Given the description of an element on the screen output the (x, y) to click on. 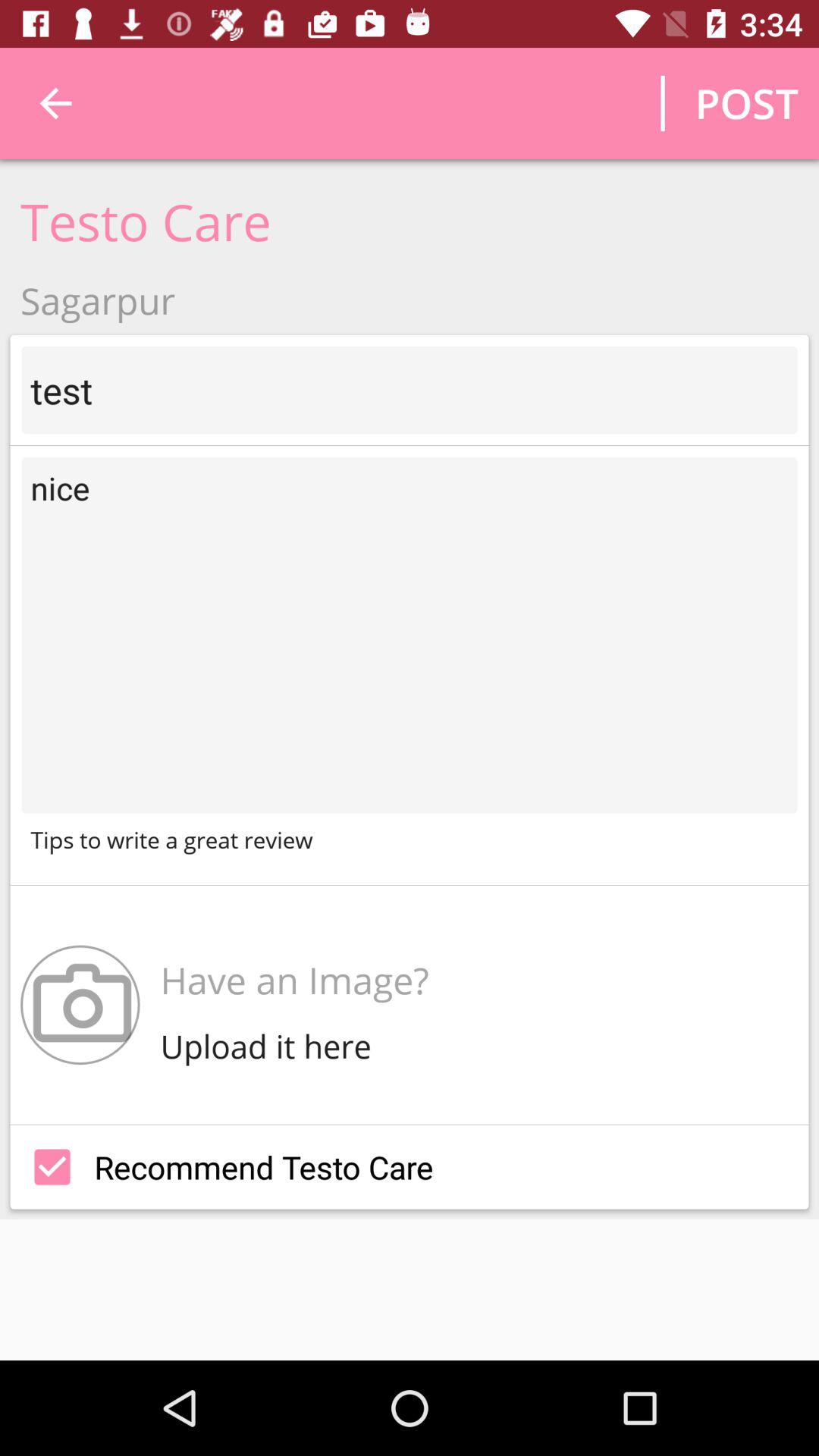
turn off tips to write (409, 839)
